Given the description of an element on the screen output the (x, y) to click on. 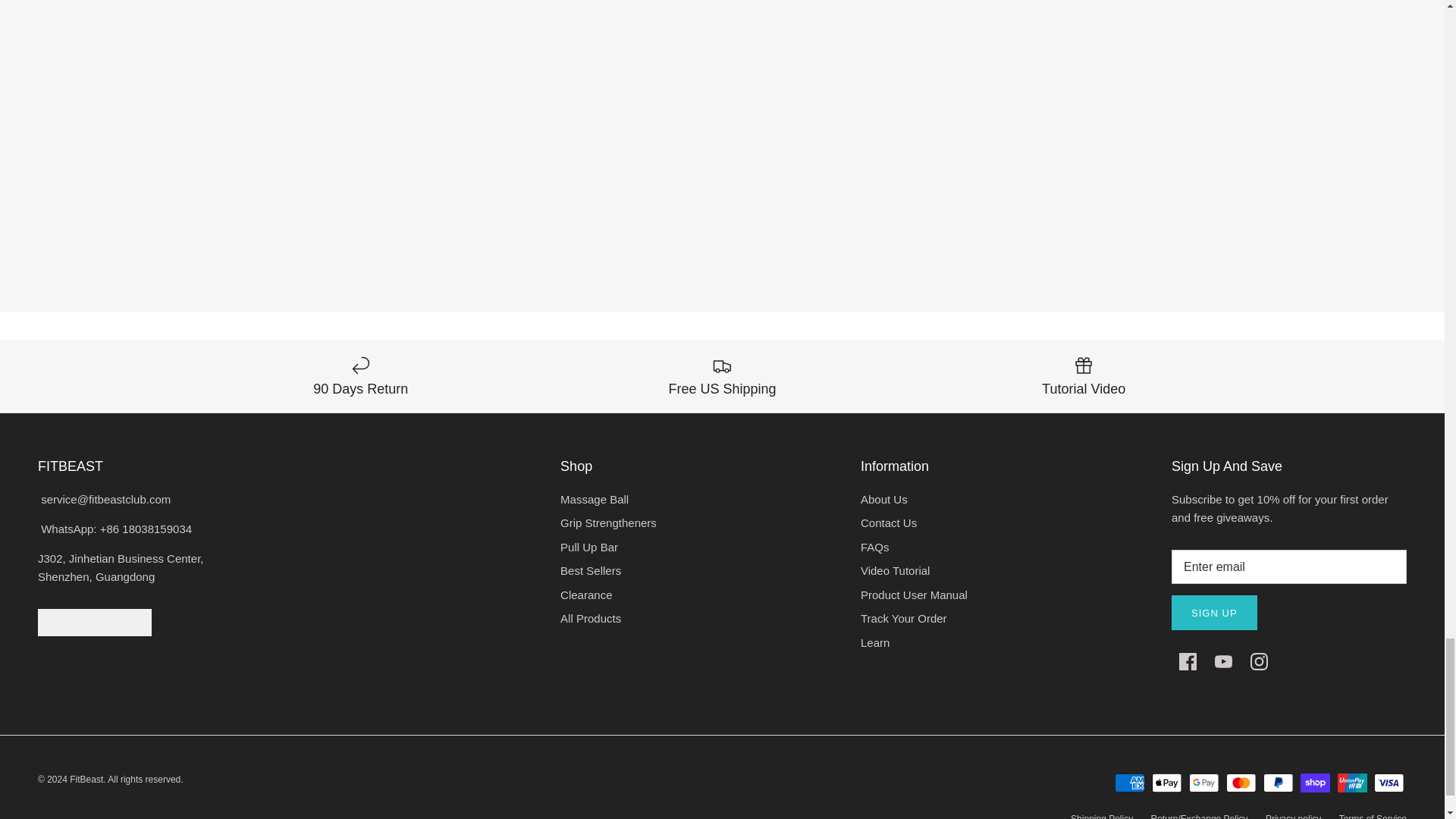
Union Pay (1352, 782)
American Express (1129, 782)
Visa (1388, 782)
Apple Pay (1166, 782)
Youtube (1222, 661)
PayPal (1277, 782)
Google Pay (1203, 782)
Facebook (1187, 661)
Mastercard (1240, 782)
Shop Pay (1315, 782)
